Given the description of an element on the screen output the (x, y) to click on. 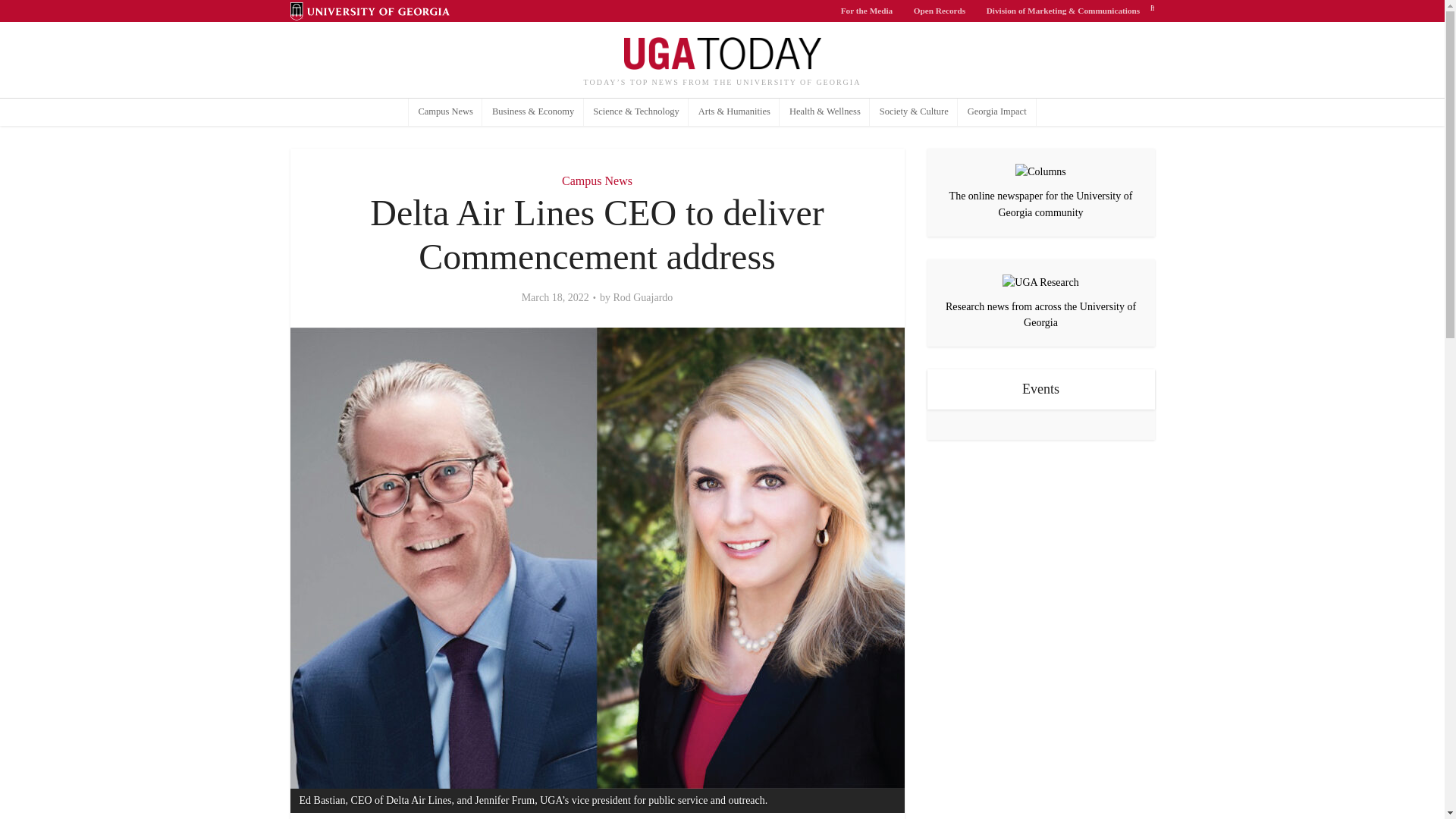
For the Media (866, 10)
Rod Guajardo (642, 297)
Open Records (939, 10)
Campus News (446, 112)
Campus News (596, 180)
Georgia Impact (996, 112)
